Given the description of an element on the screen output the (x, y) to click on. 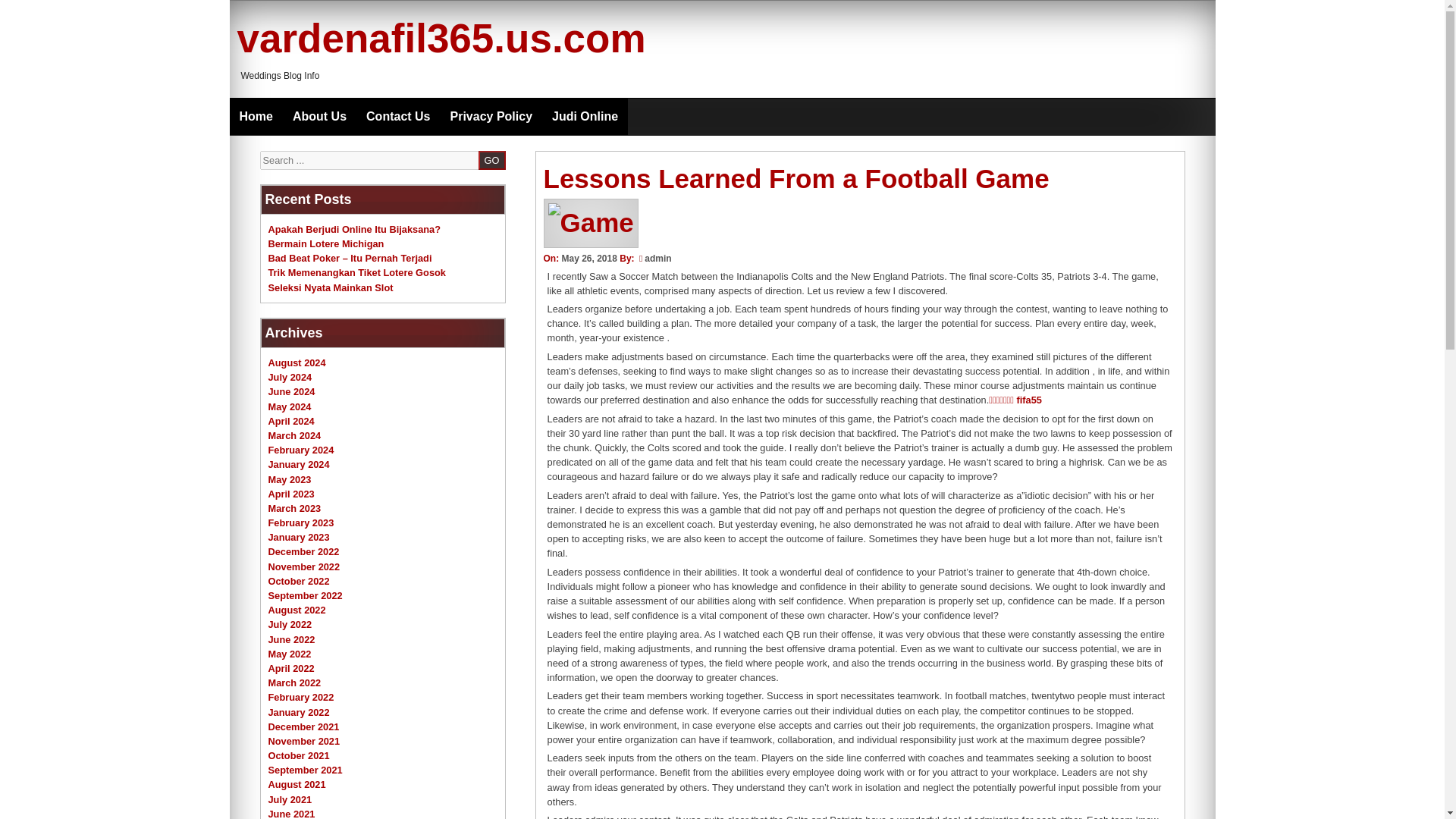
May 2024 (289, 406)
January 2023 (298, 536)
October 2022 (298, 581)
November 2022 (303, 566)
April 2023 (290, 493)
vardenafil365.us.com (440, 37)
Bermain Lotere Michigan (325, 243)
GO (492, 158)
Trik Memenangkan Tiket Lotere Gosok (356, 272)
Judi Online (584, 116)
